Given the description of an element on the screen output the (x, y) to click on. 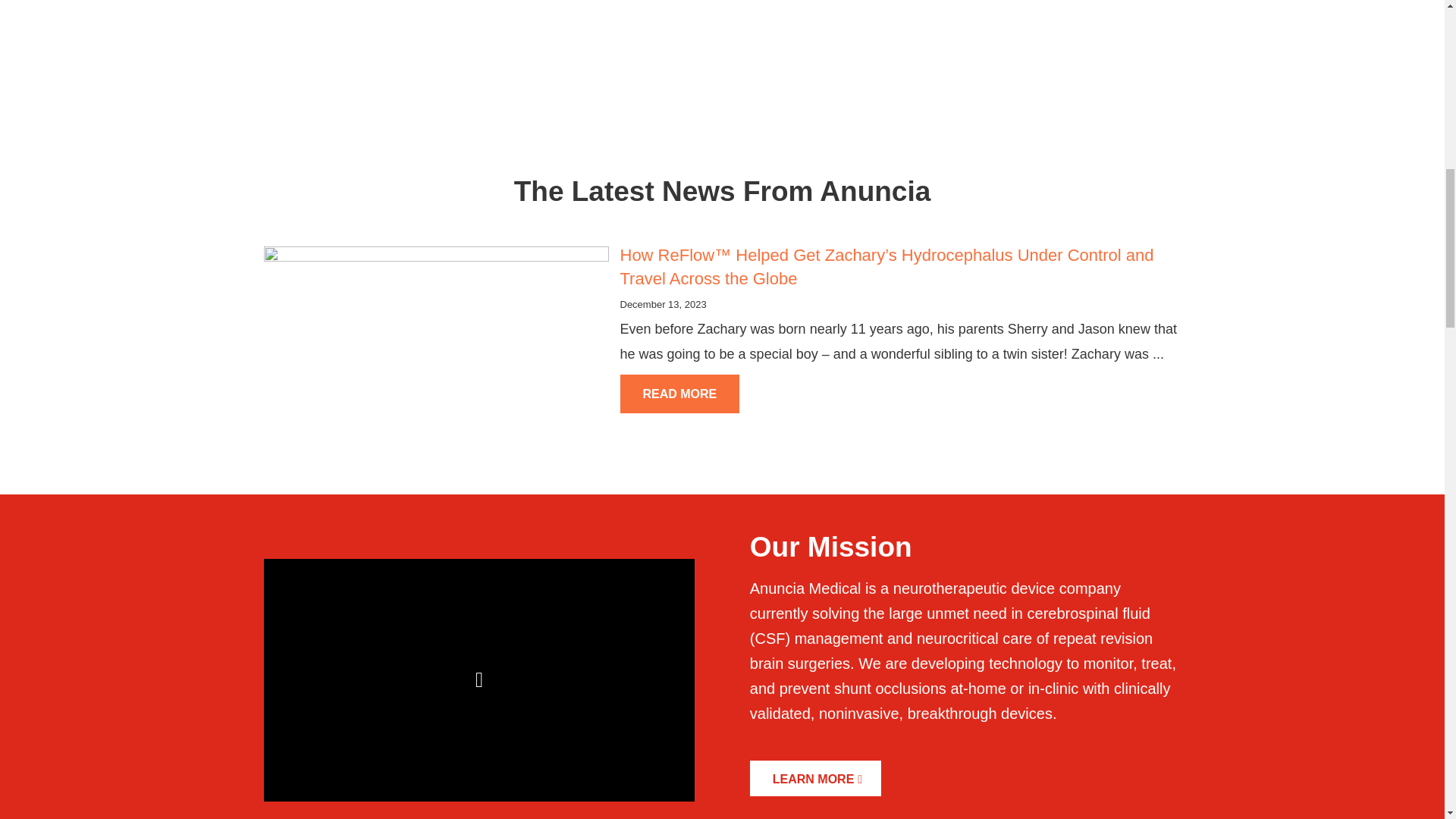
READ MORE (679, 393)
LEARN MORE (814, 778)
